Given the description of an element on the screen output the (x, y) to click on. 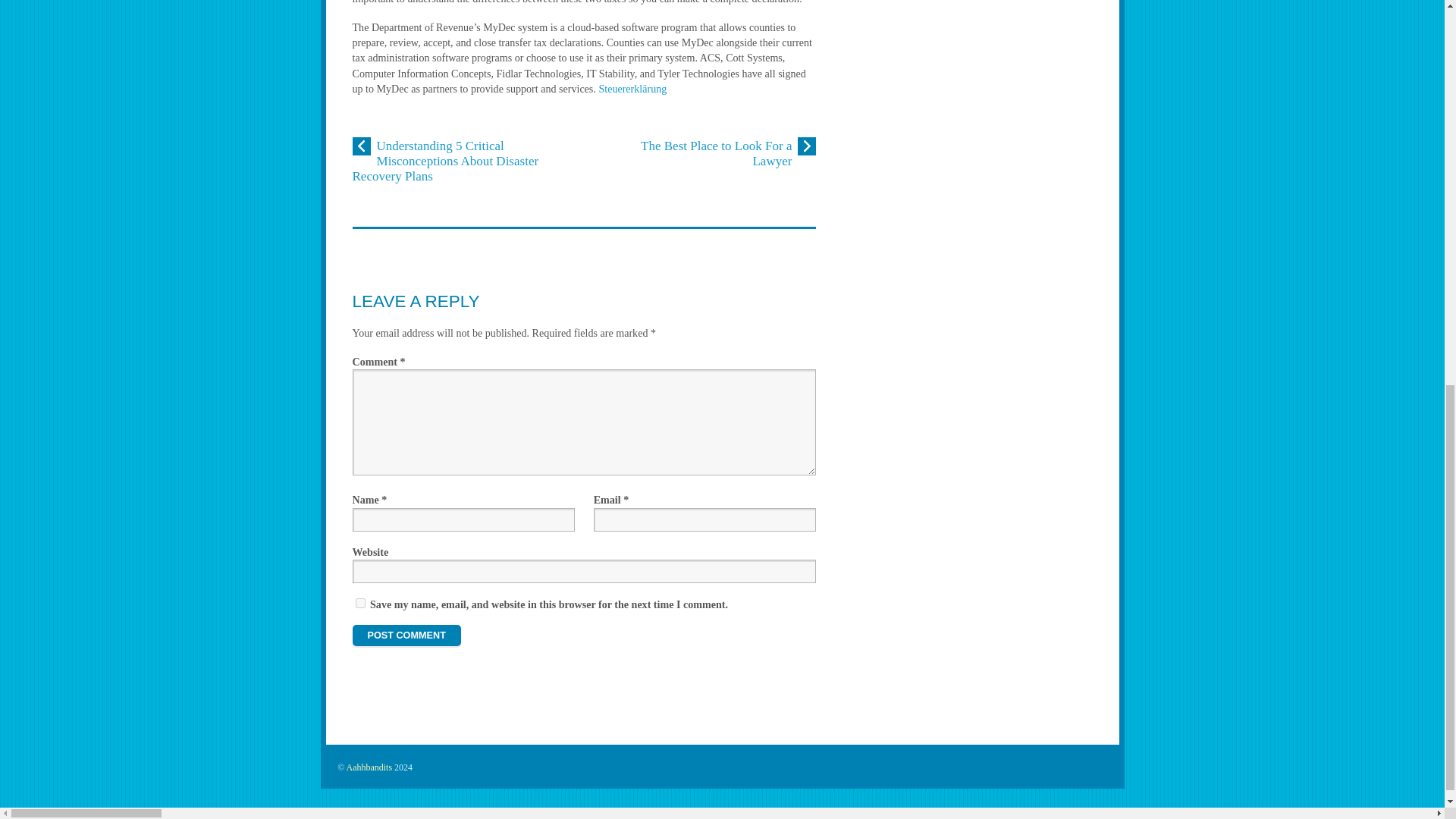
yes (360, 603)
Post Comment (406, 635)
Post Comment (406, 635)
Aahhbandits (368, 767)
